Given the description of an element on the screen output the (x, y) to click on. 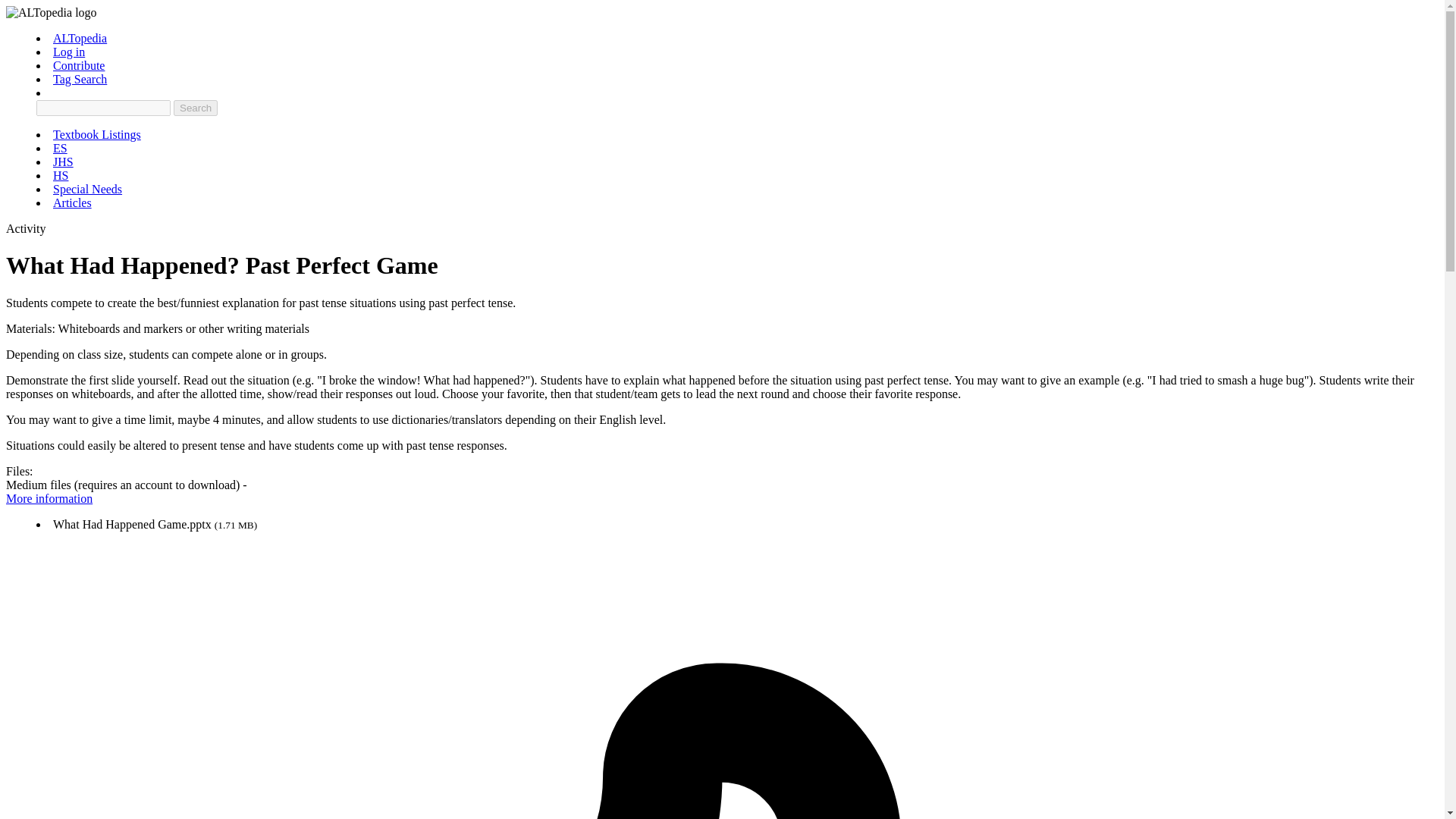
Contribute (78, 65)
Articles (71, 202)
Search (194, 107)
Search (194, 107)
Search (194, 107)
Tag Search (79, 78)
ALTopedia (79, 38)
JHS (63, 161)
ES (59, 147)
Log in (68, 51)
Textbook Listings (96, 133)
More information (49, 498)
HS (60, 174)
Special Needs (87, 188)
